Given the description of an element on the screen output the (x, y) to click on. 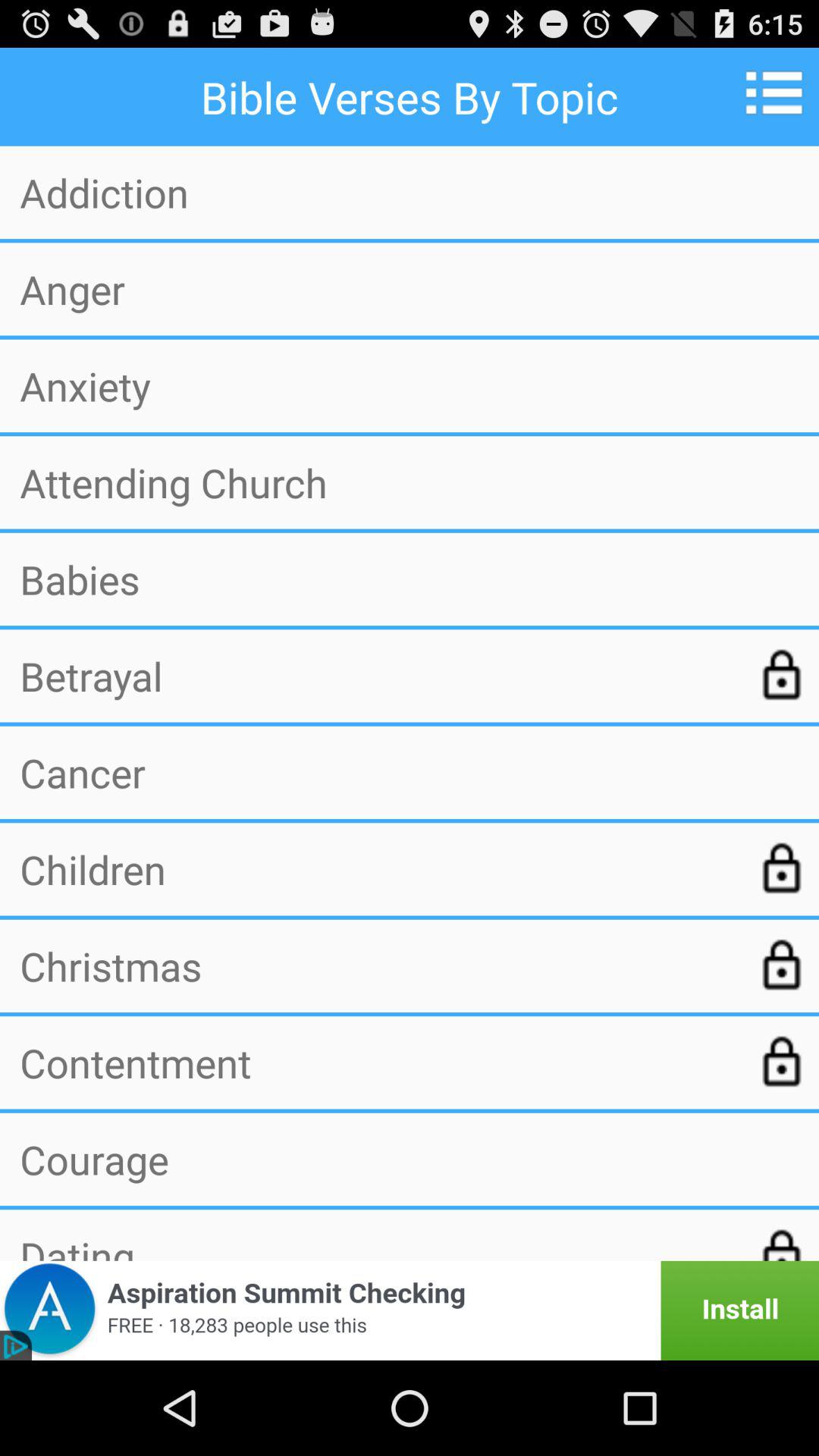
press the anxiety app (409, 385)
